Given the description of an element on the screen output the (x, y) to click on. 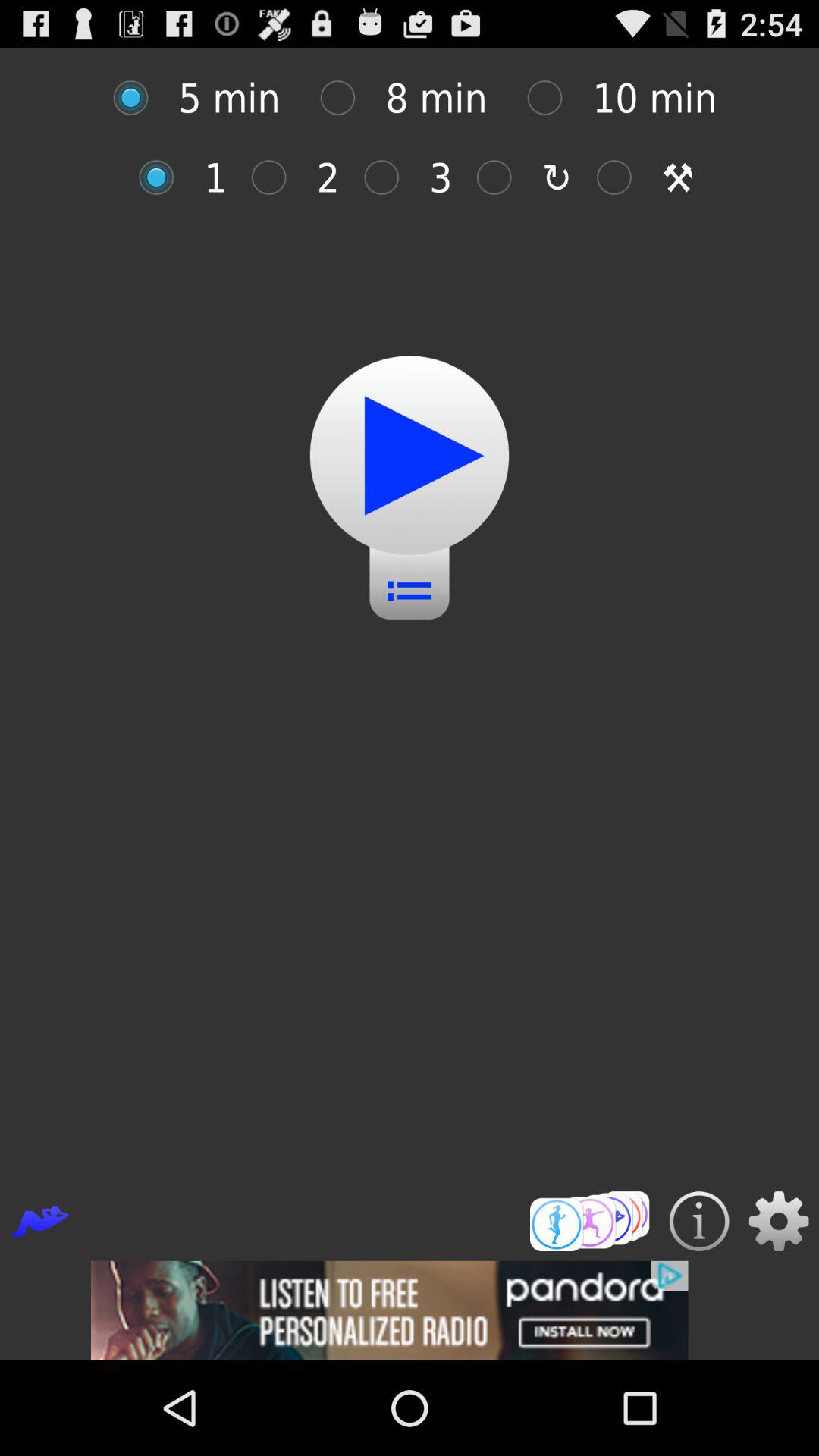
play min (502, 177)
